Given the description of an element on the screen output the (x, y) to click on. 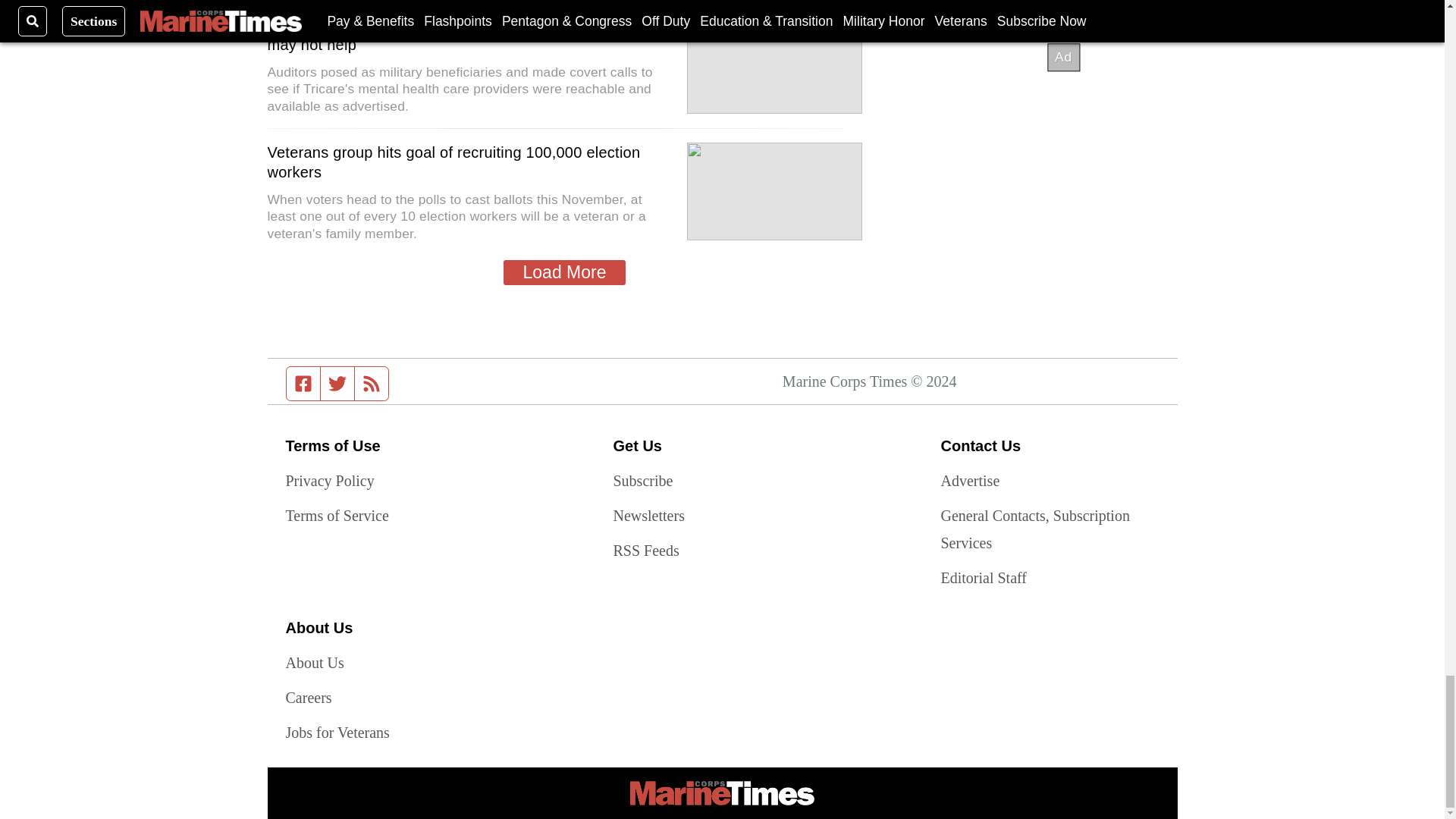
Facebook page (303, 383)
Twitter feed (336, 383)
RSS feed (371, 383)
